Given the description of an element on the screen output the (x, y) to click on. 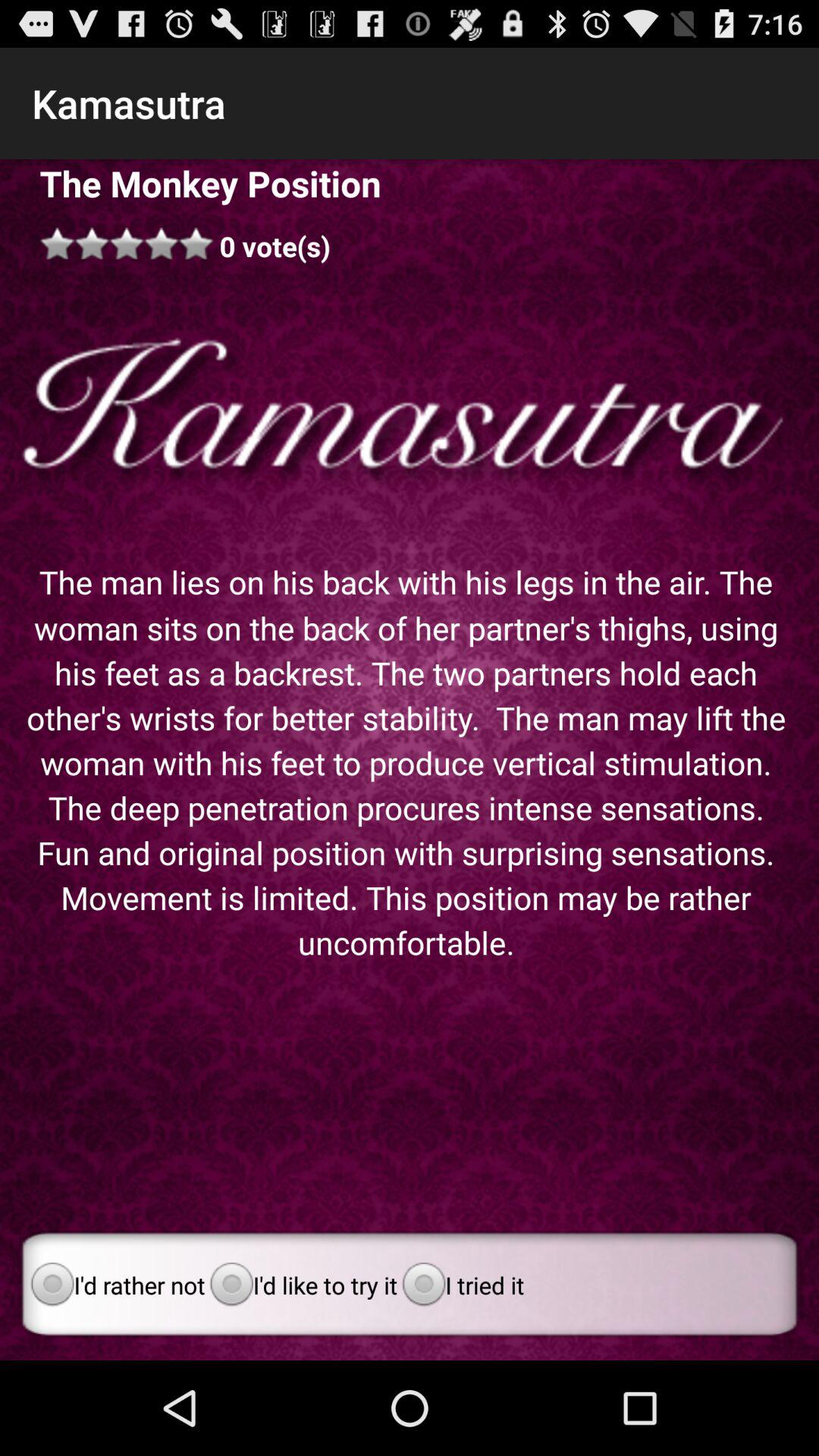
turn on icon below 0 vote(s) app (409, 412)
